Given the description of an element on the screen output the (x, y) to click on. 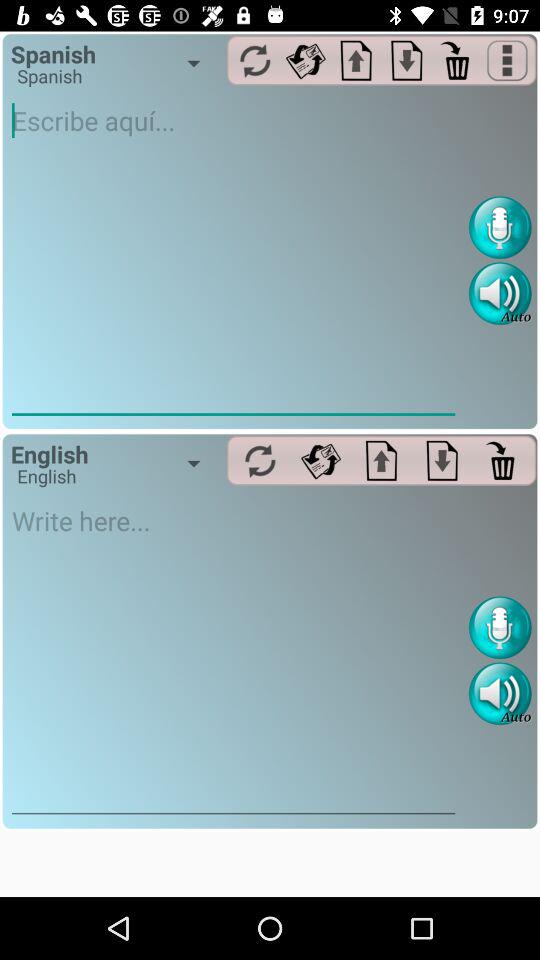
delete button (502, 460)
